Given the description of an element on the screen output the (x, y) to click on. 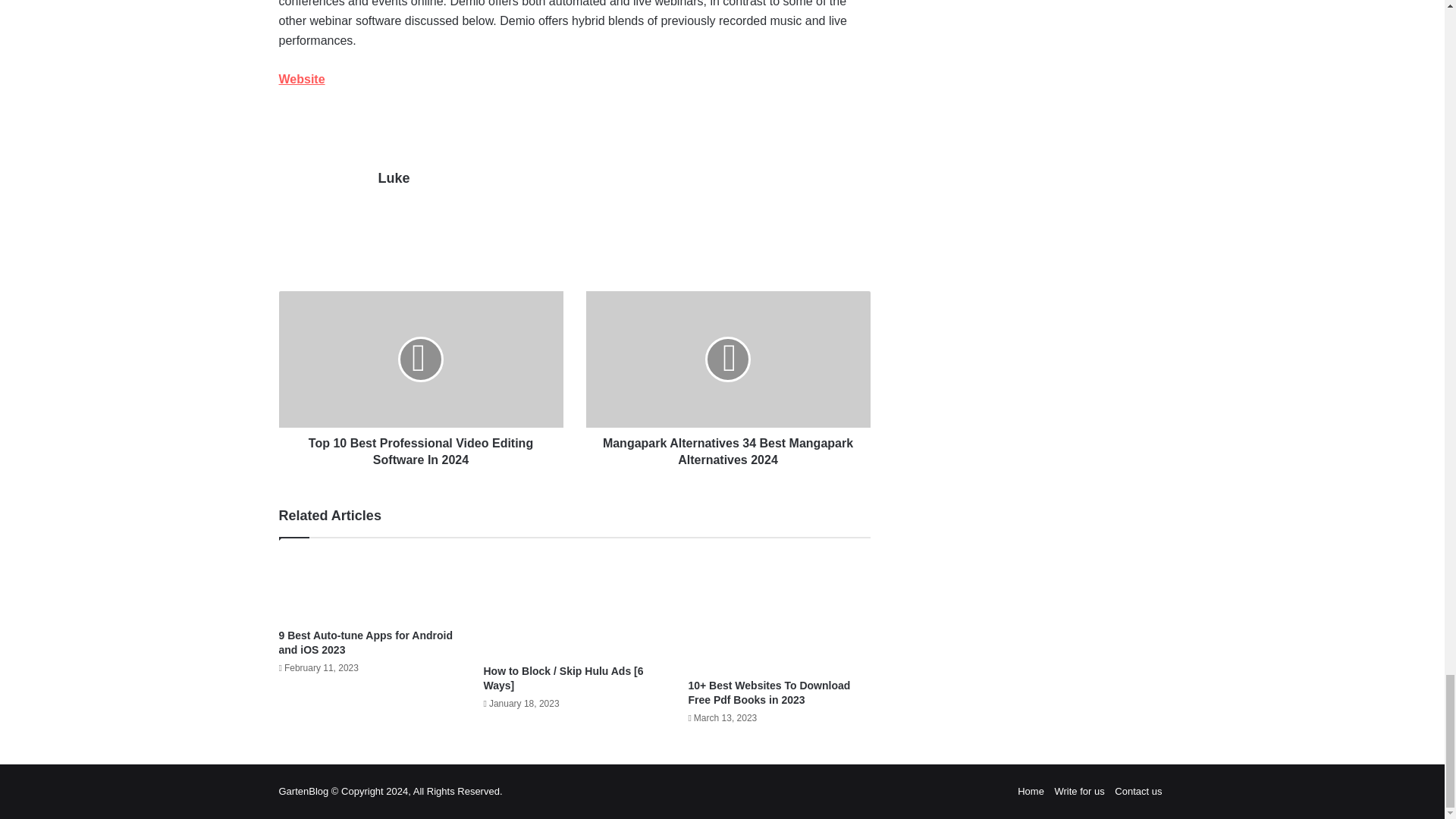
Mangapark Alternatives 34 Best Mangapark Alternatives 2024 (727, 359)
Website (301, 78)
Mangapark Alternatives 34 Best Mangapark Alternatives 2024 (727, 447)
Top 10 Best Professional Video Editing Software In 2024 (421, 447)
Luke (393, 177)
Top 10 Best Professional Video Editing Software In 2024 (421, 359)
